Given the description of an element on the screen output the (x, y) to click on. 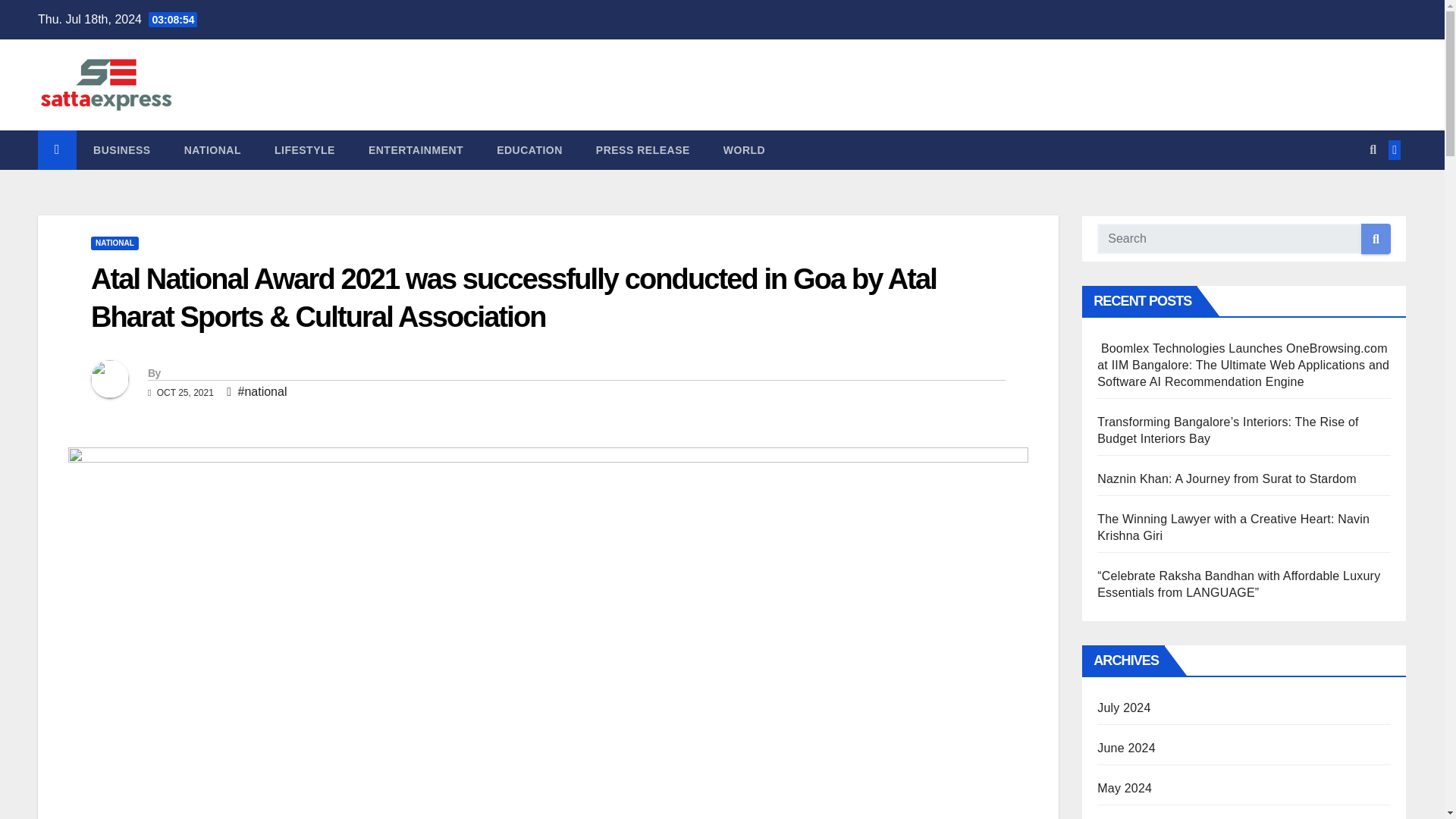
WORLD (743, 149)
National (212, 149)
Entertainment (416, 149)
Press Release (642, 149)
Business (122, 149)
NATIONAL (114, 243)
LIFESTYLE (304, 149)
BUSINESS (122, 149)
NATIONAL (212, 149)
PRESS RELEASE (642, 149)
EDUCATION (529, 149)
Lifestyle (304, 149)
Education (529, 149)
World (743, 149)
ENTERTAINMENT (416, 149)
